Given the description of an element on the screen output the (x, y) to click on. 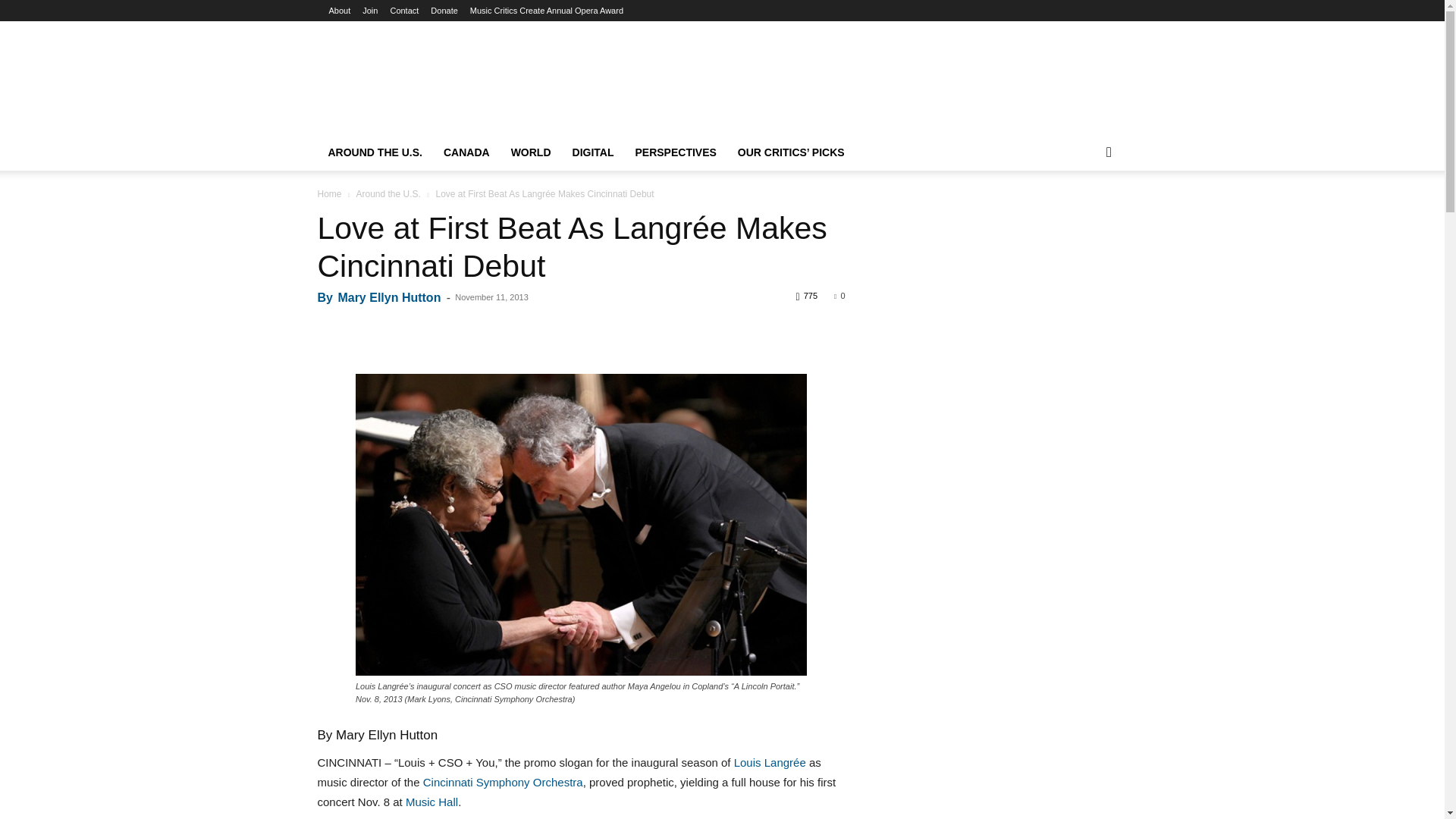
Donate (443, 10)
Music Critics Create Annual Opera Award (546, 10)
Join (369, 10)
Contact (404, 10)
Classical Voice North America (721, 64)
AROUND THE U.S. (374, 152)
About (339, 10)
